Given the description of an element on the screen output the (x, y) to click on. 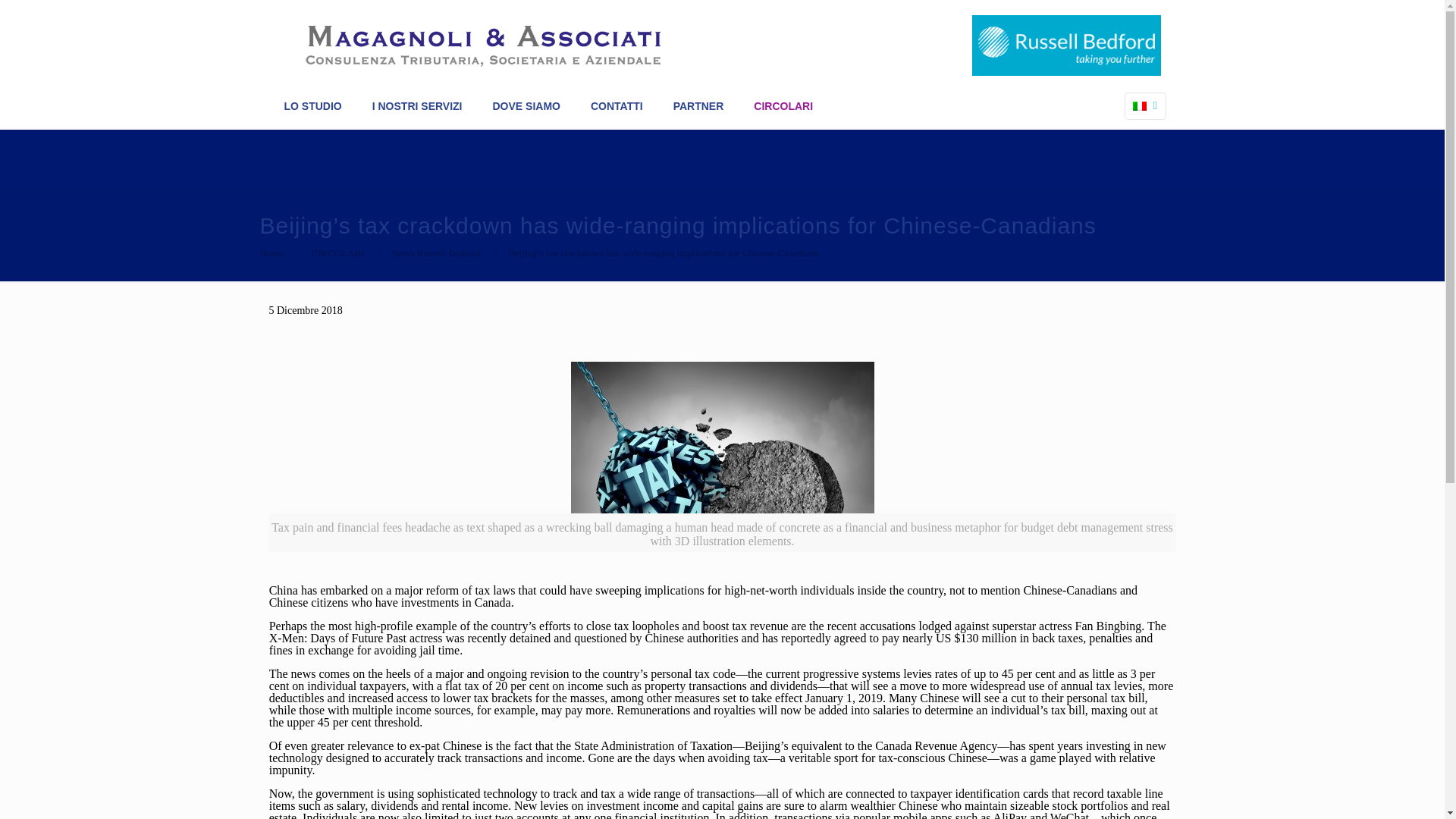
News Russell Bedford (435, 252)
PARTNER (698, 105)
LO STUDIO (311, 105)
CIRCOLARI (783, 105)
DOVE SIAMO (526, 105)
Studio Magagnoli e Associati (480, 41)
Home (271, 252)
CONTATTI (616, 105)
CIRCOLARI (338, 252)
I NOSTRI SERVIZI (416, 105)
